Given the description of an element on the screen output the (x, y) to click on. 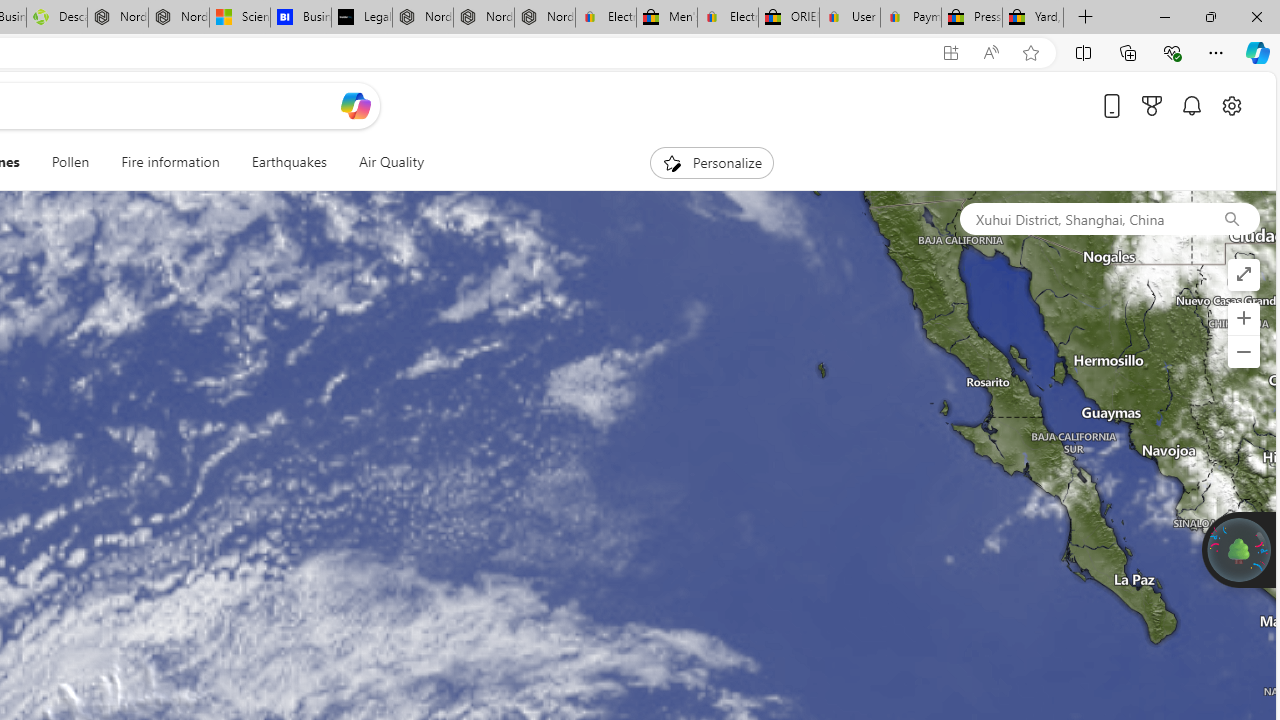
Join us in planting real trees to help our planet! (1239, 548)
Zoom out (1243, 351)
